Given the description of an element on the screen output the (x, y) to click on. 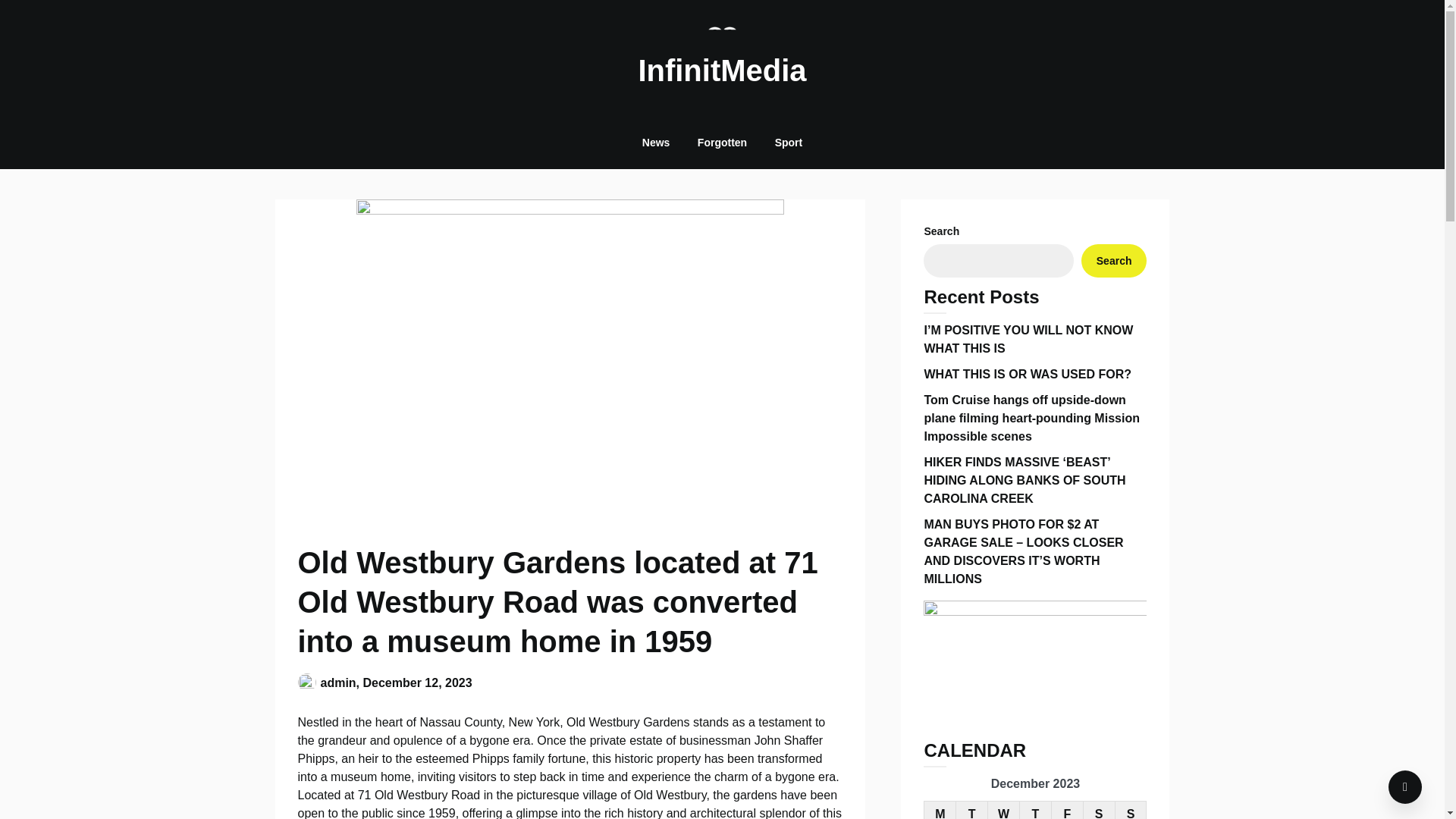
Thursday (1035, 809)
Search (1114, 260)
Monday (940, 809)
To Top (1405, 786)
News (656, 142)
Sunday (1131, 809)
December 12, 2023 (416, 682)
WHAT THIS IS OR WAS USED FOR? (1027, 373)
InfinitMedia (722, 70)
Forgotten (721, 142)
Friday (1067, 809)
Wednesday (1004, 809)
Tuesday (972, 809)
Saturday (1099, 809)
